Given the description of an element on the screen output the (x, y) to click on. 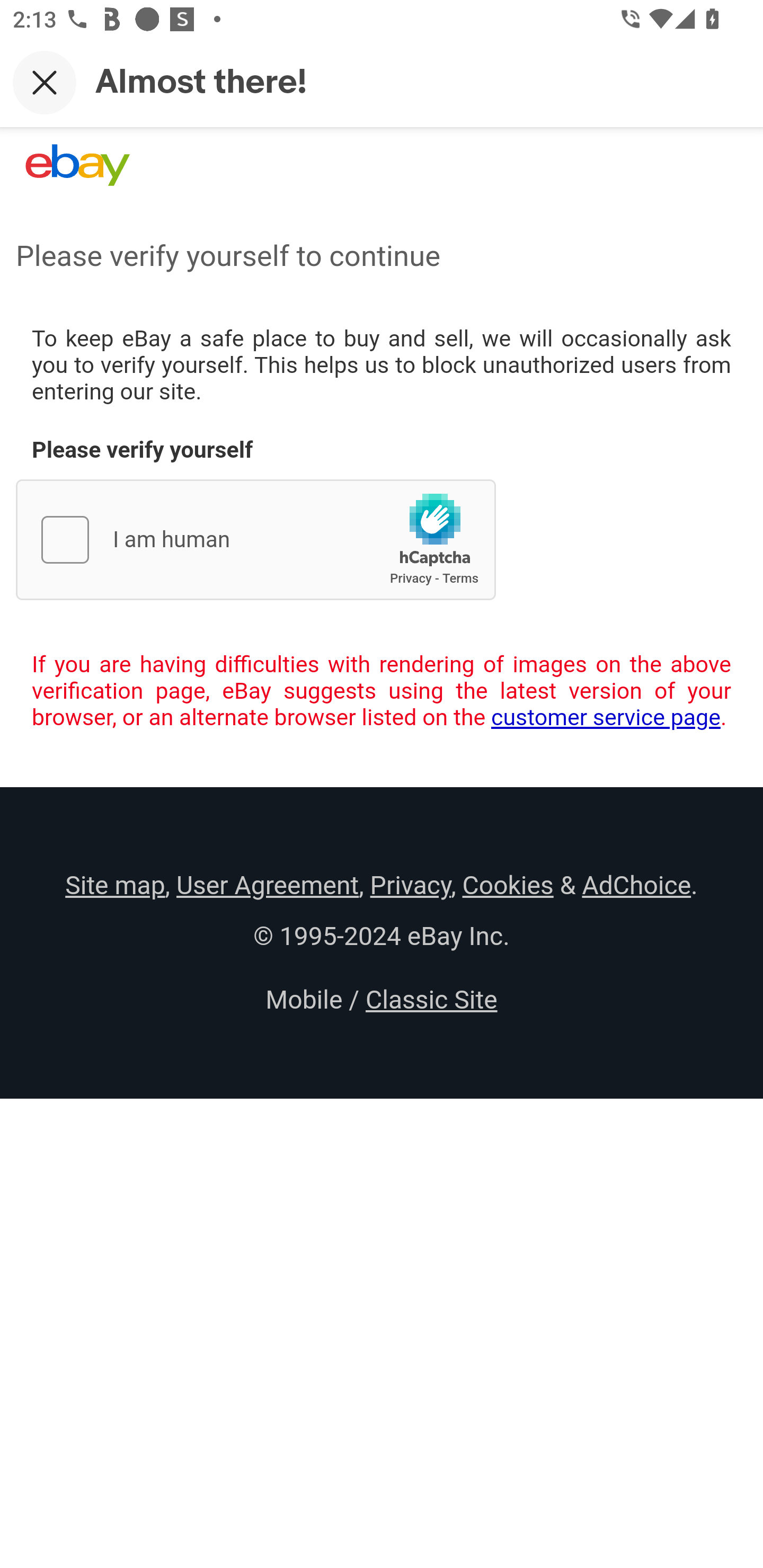
Close (44, 82)
eBay Home (77, 165)
hCaptcha Privacy Policy Privacy (410, 578)
hCaptcha Terms of Service Terms (459, 578)
customer service page (605, 717)
Site map (114, 884)
User Agreement (266, 884)
Privacy (409, 884)
Cookies (507, 884)
AdChoice (636, 884)
